Given the description of an element on the screen output the (x, y) to click on. 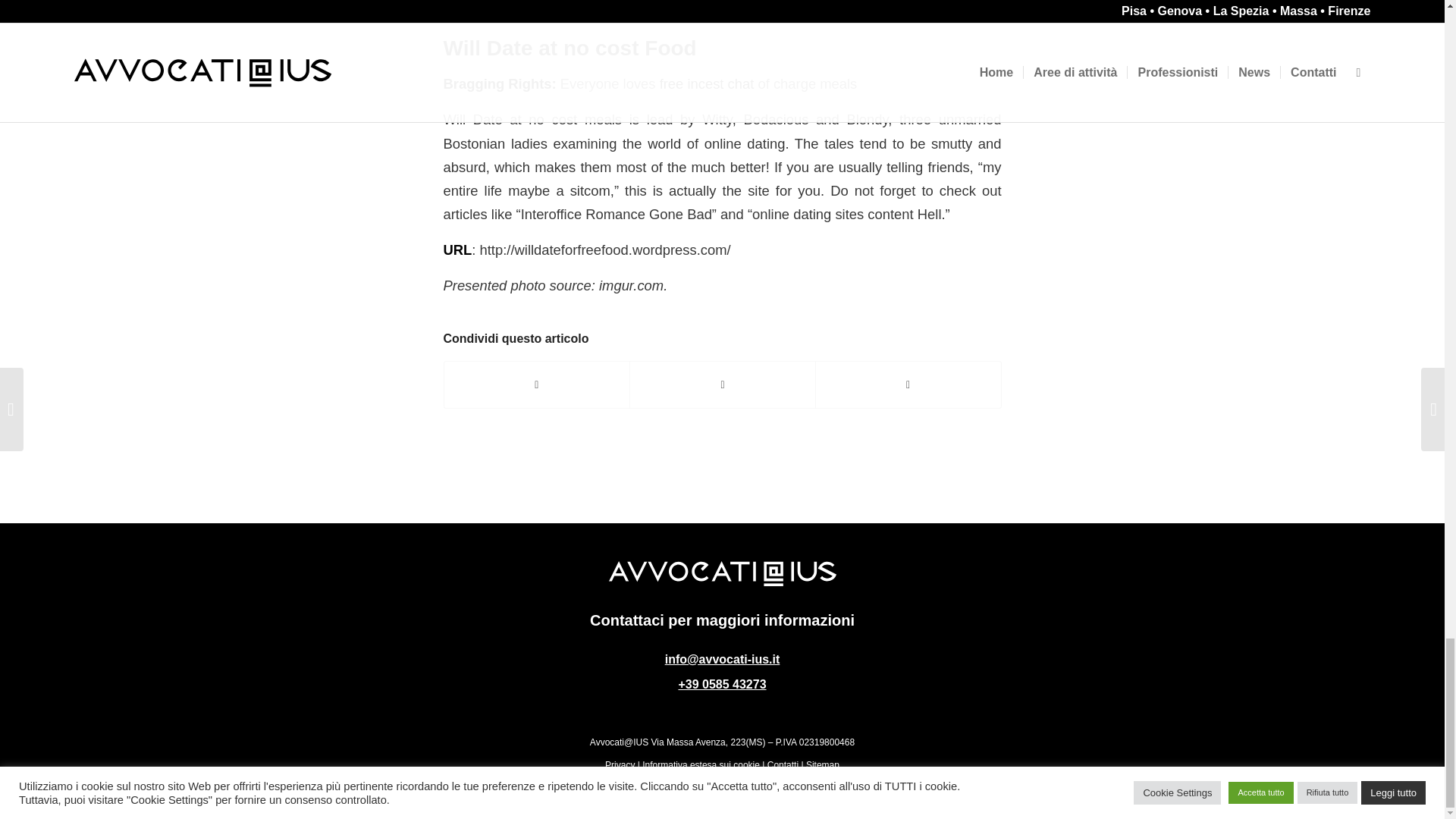
free incest chat (706, 83)
Contatti (782, 765)
Sitemap (823, 765)
Privacy (619, 765)
Informativa estesa sui cookie (701, 765)
